Given the description of an element on the screen output the (x, y) to click on. 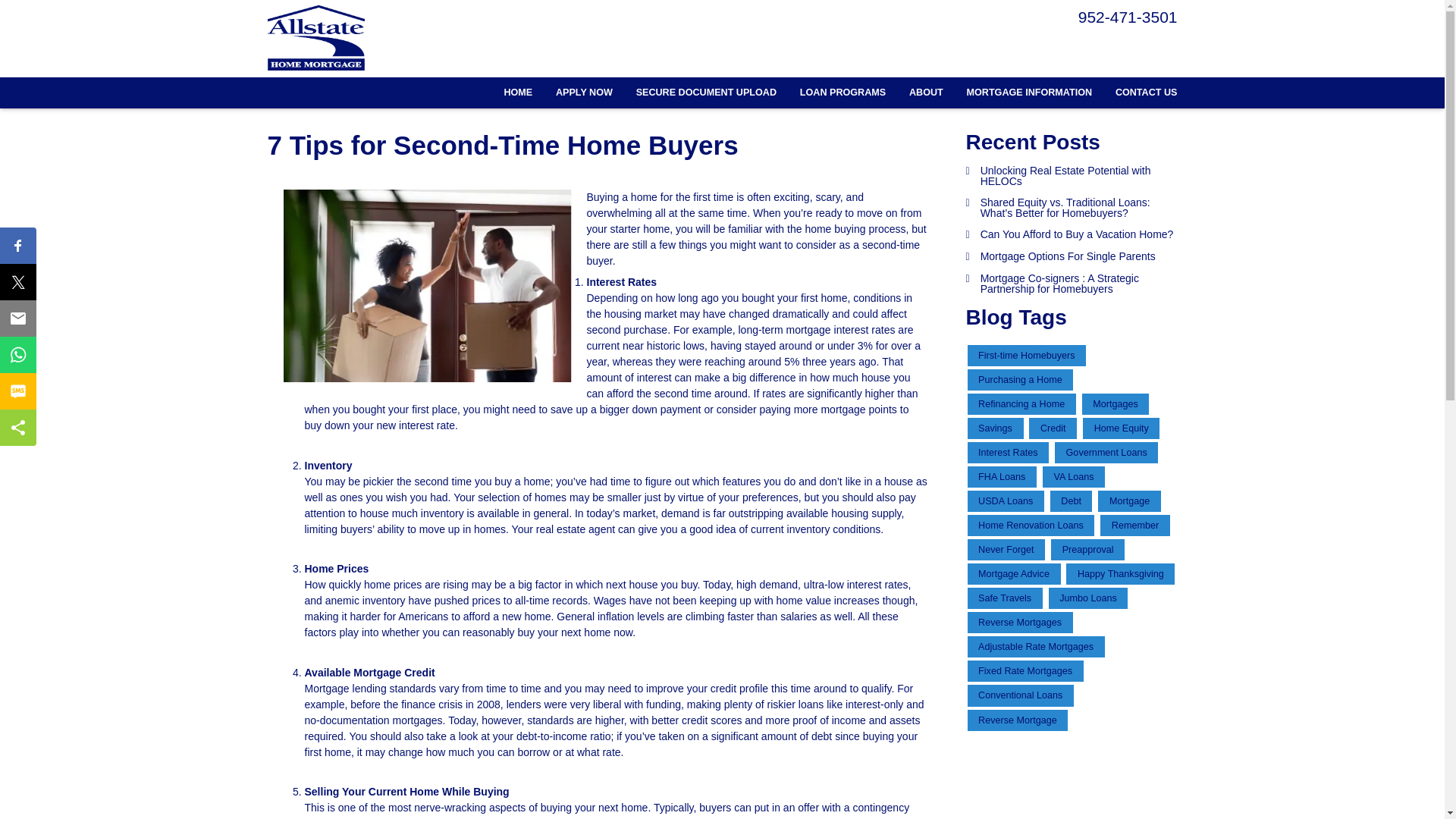
Mortgages (1115, 403)
Mortgage Options For Single Parents (1071, 256)
Unlocking Real Estate Potential with HELOCs (1071, 175)
CONTACT US (1139, 92)
Credit (1053, 427)
Purchasing a Home (1021, 379)
First-time Homebuyers (1027, 355)
MORTGAGE INFORMATION (1029, 92)
HOME (518, 92)
SECURE DOCUMENT UPLOAD (705, 92)
APPLY NOW (584, 92)
Refinancing a Home (1021, 403)
Interest Rates (1008, 452)
Savings (995, 427)
Mortgage Co-signers : A Strategic Partnership for Homebuyers (1071, 283)
